Given the description of an element on the screen output the (x, y) to click on. 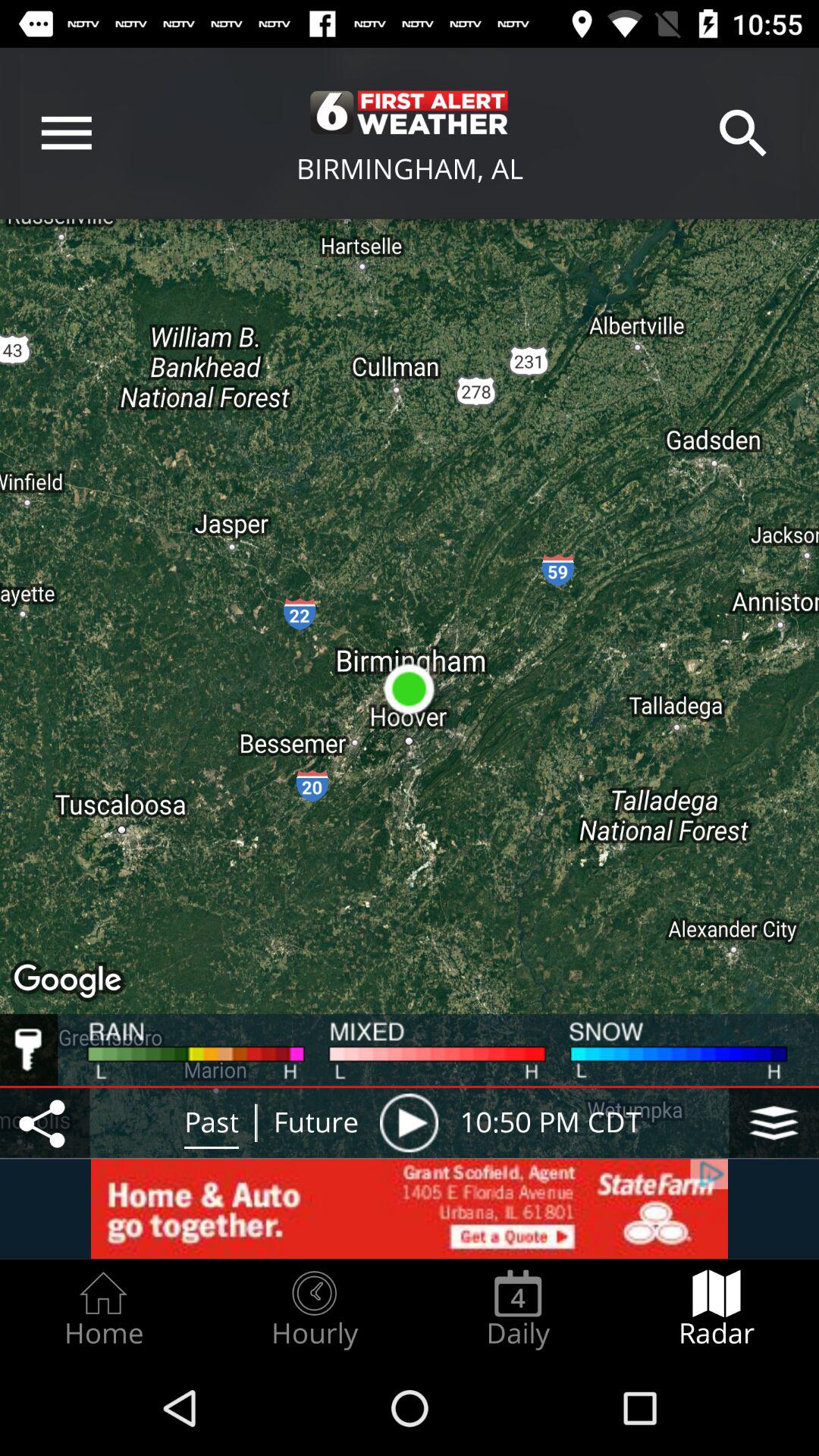
turn off the item to the right of hourly radio button (518, 1309)
